Given the description of an element on the screen output the (x, y) to click on. 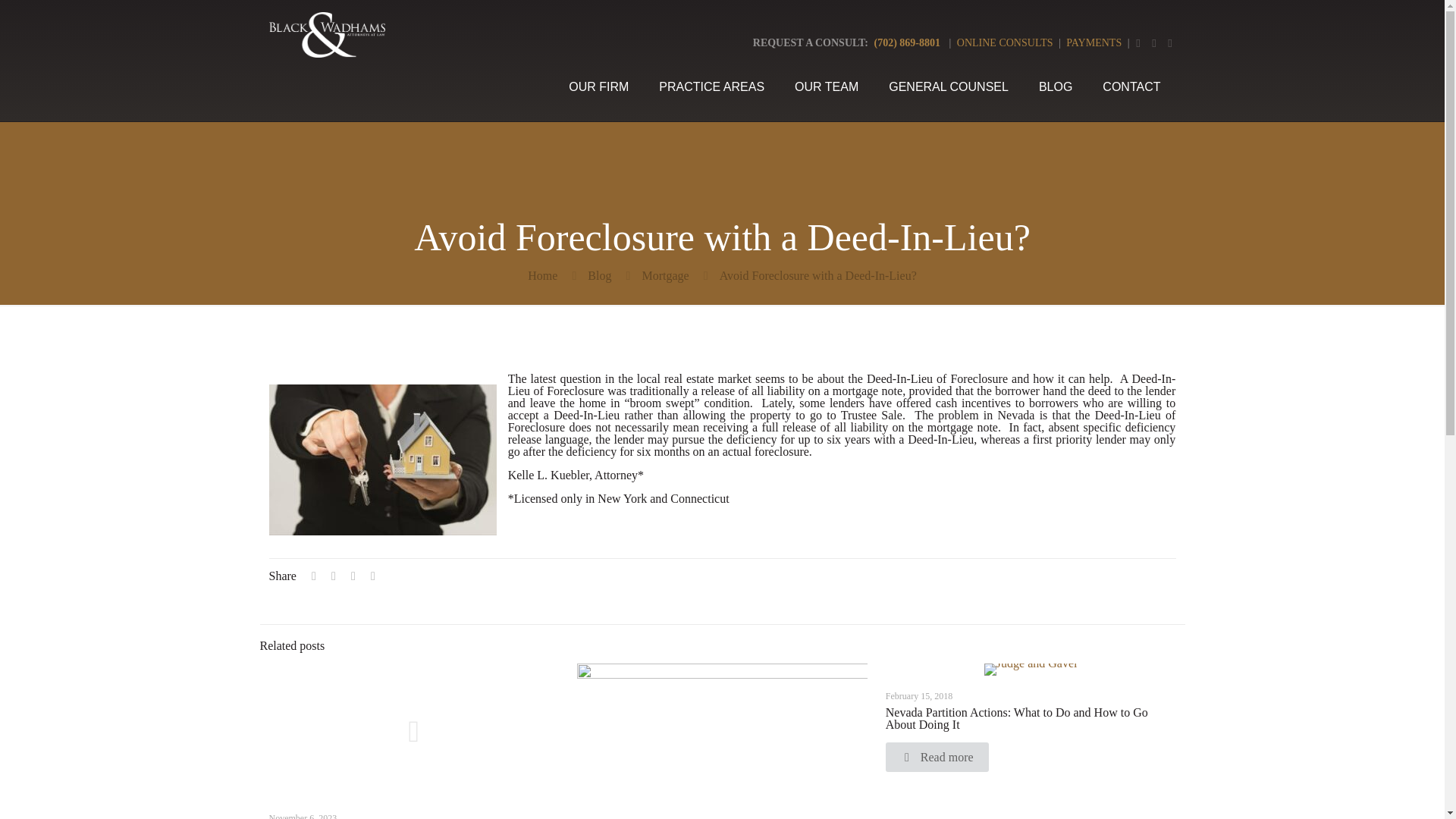
ONLINE CONSULTS (1005, 42)
LinkedIn (1170, 42)
OUR TEAM (825, 87)
OUR FIRM (598, 87)
PAYMENTS (1093, 42)
Deed-In-Lieu instead of Foreclosure (382, 459)
Facebook (1138, 42)
GENERAL COUNSEL (948, 87)
BLOG (1055, 87)
CONTACT (1130, 87)
